Given the description of an element on the screen output the (x, y) to click on. 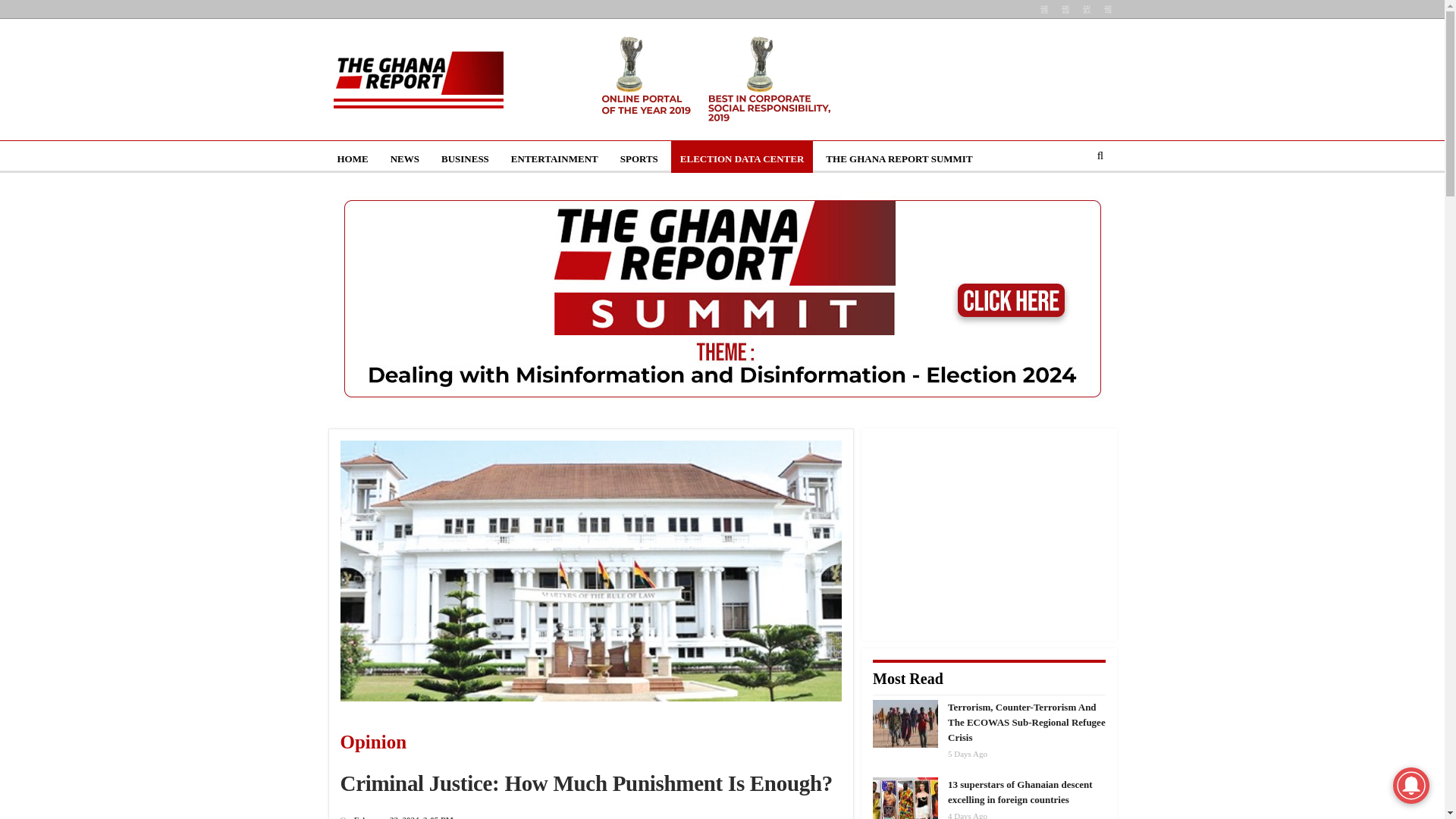
SPORTS (638, 158)
THE GHANA REPORT SUMMIT (898, 158)
ELECTION DATA CENTER (742, 158)
Opinion (453, 742)
ENTERTAINMENT (554, 158)
NEWS (404, 158)
HOME (352, 158)
BUSINESS (464, 158)
